Given the description of an element on the screen output the (x, y) to click on. 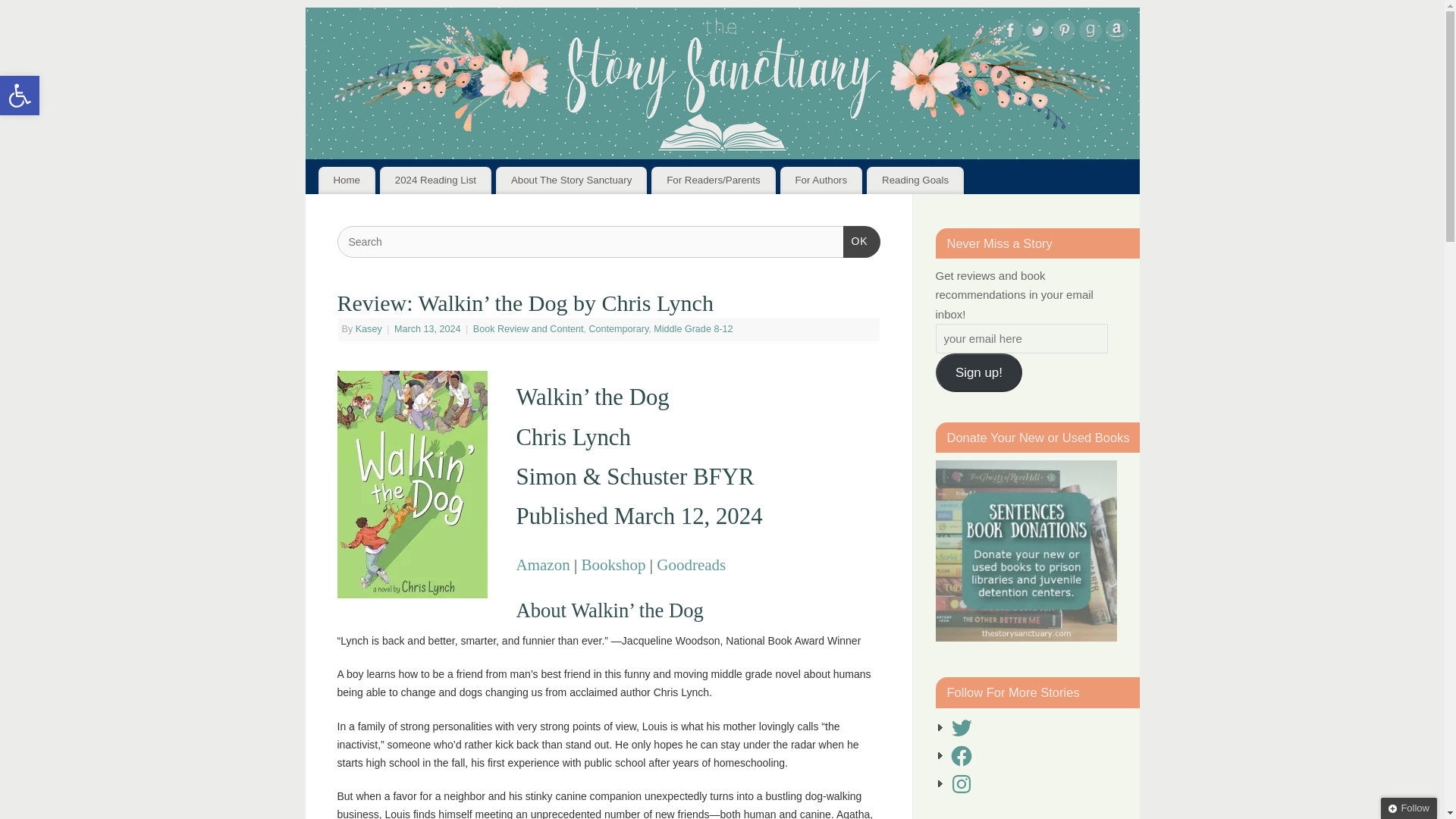
Accessibility Tools (19, 95)
Twitter (1036, 32)
Accessibility Tools (19, 95)
March 13, 2024 (428, 328)
The Story Sanctuary (721, 82)
About The Story Sanctuary (571, 180)
Home (346, 180)
